Given the description of an element on the screen output the (x, y) to click on. 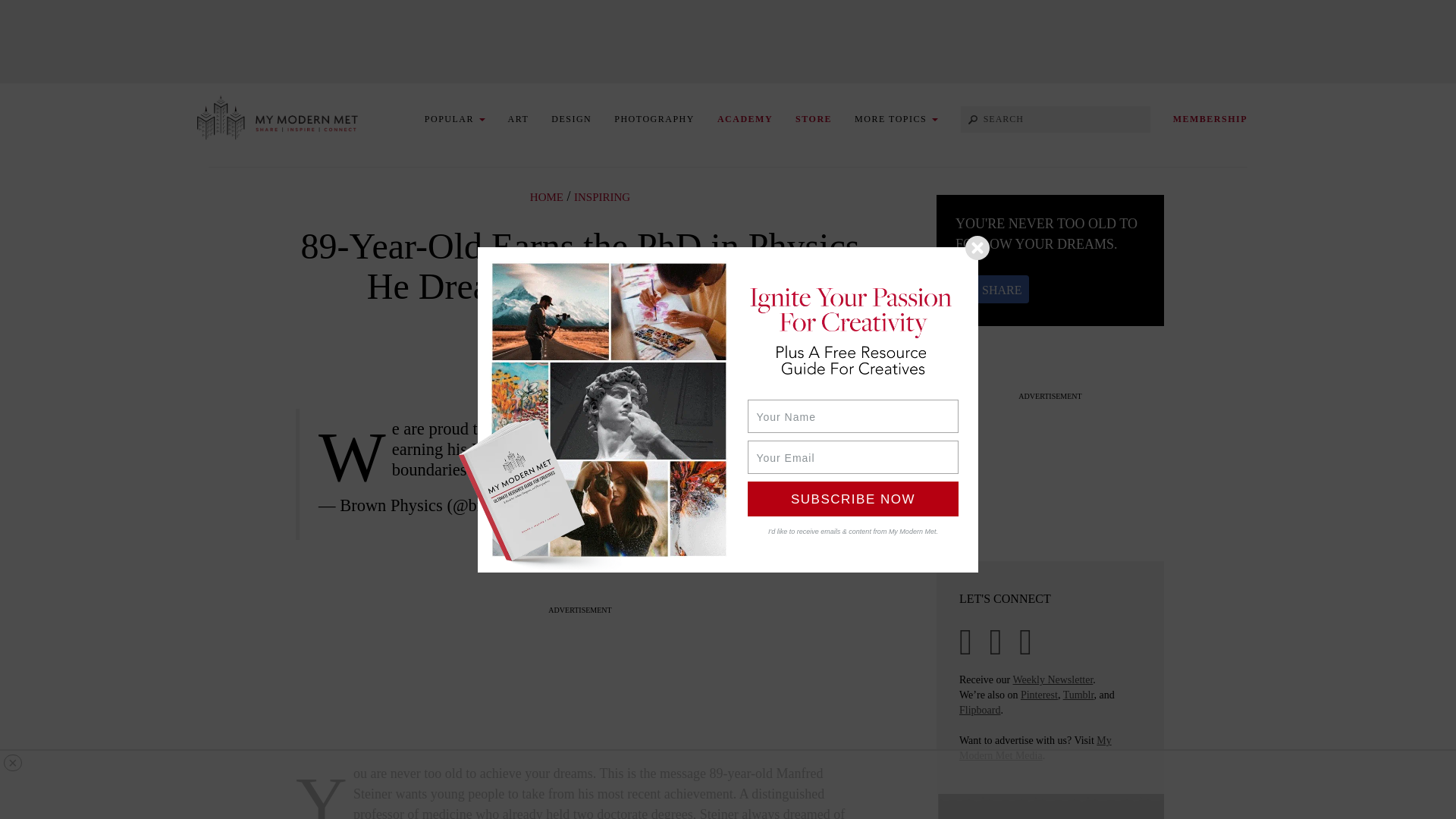
Close (977, 247)
SUBSCRIBE NOW (853, 497)
